Given the description of an element on the screen output the (x, y) to click on. 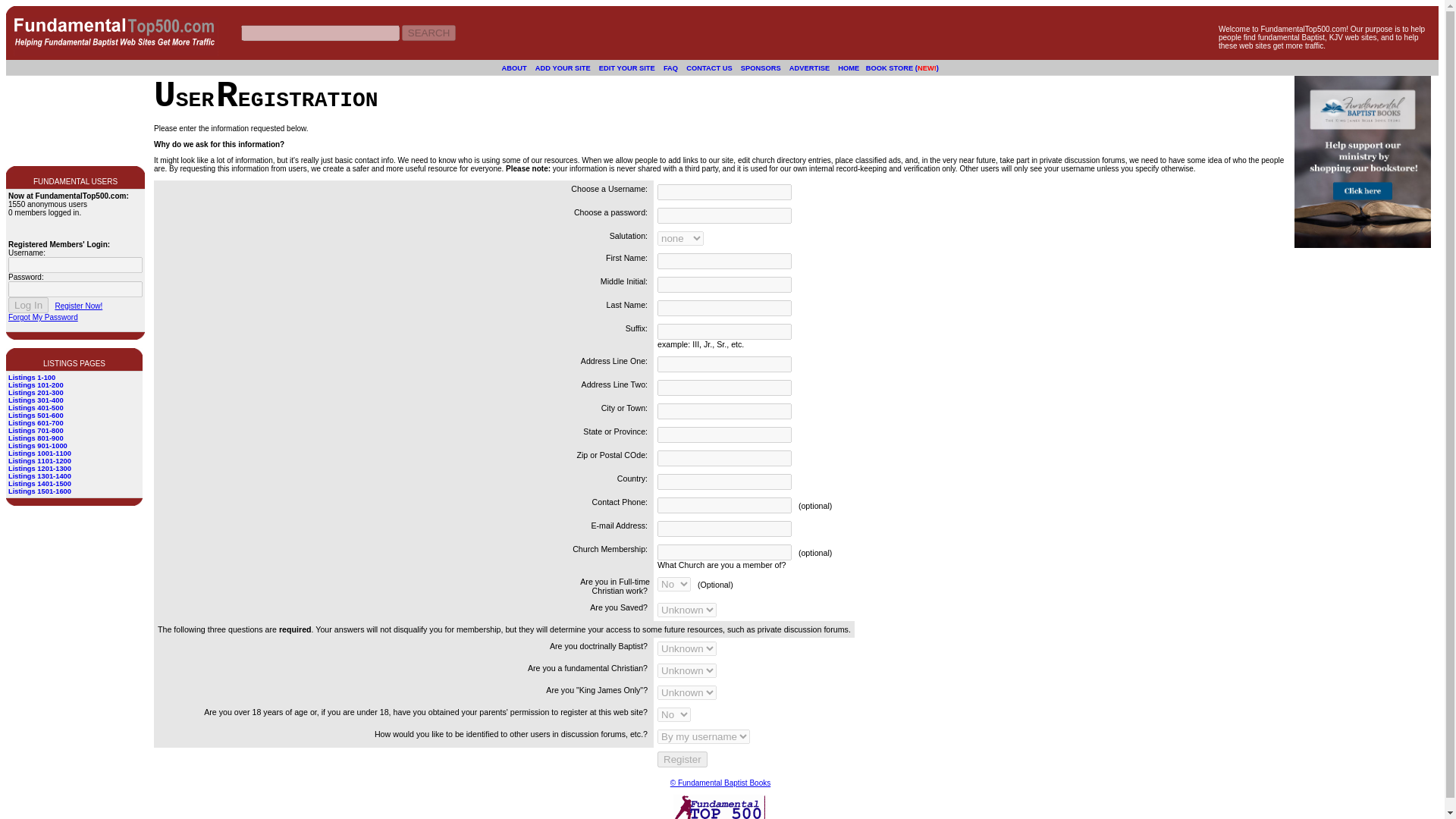
Listings 501-600 (36, 415)
Log In (28, 304)
Log In (28, 304)
Listings 301-400 (36, 400)
SEARCH (429, 32)
Listings 1401-1500 (39, 483)
Listings 1501-1600 (39, 491)
EDIT YOUR SITE (626, 67)
SEARCH (429, 32)
Listings 801-900 (36, 438)
